Given the description of an element on the screen output the (x, y) to click on. 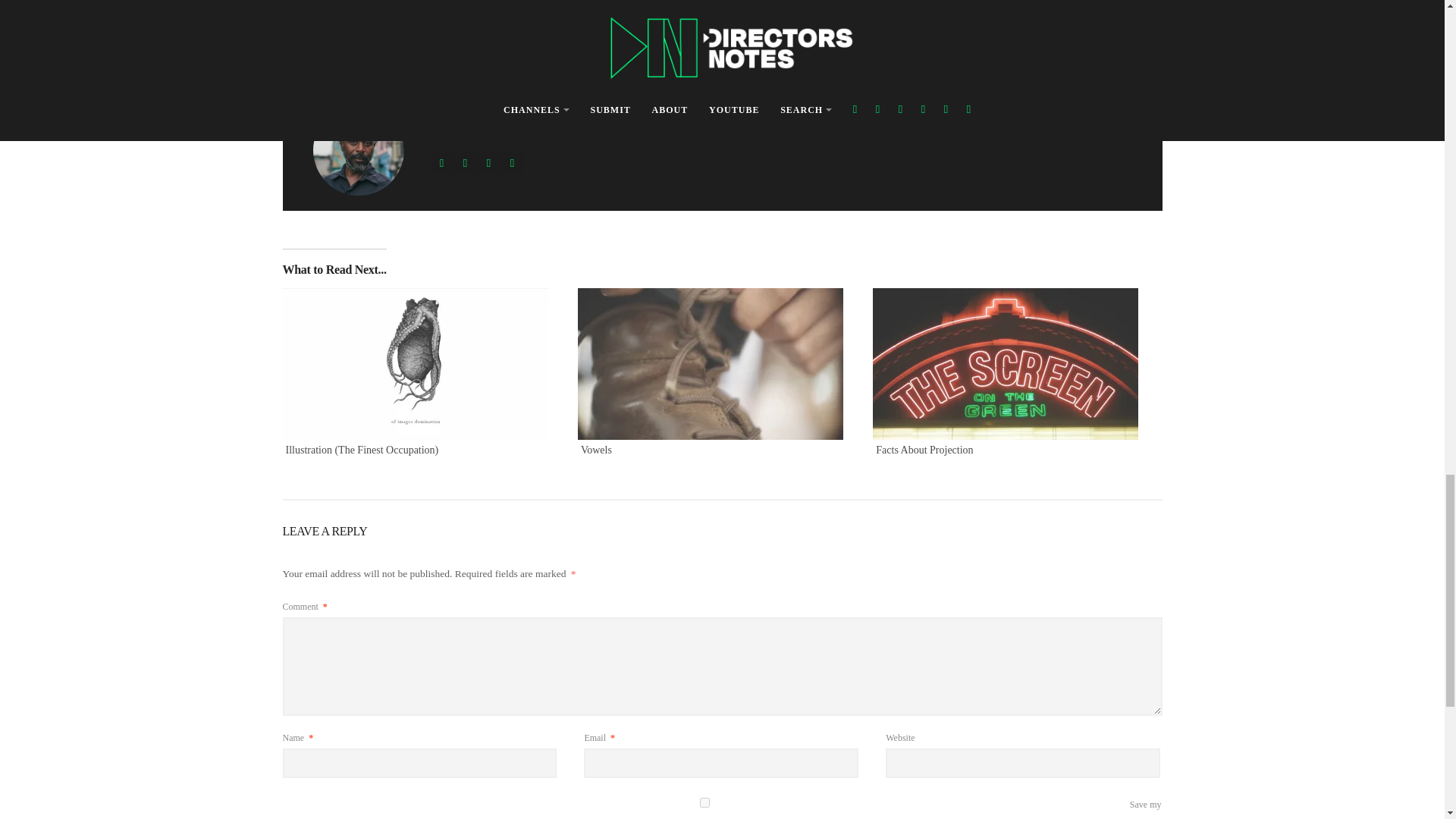
MarBelle (422, 80)
Posts by MarBelle (422, 80)
Vowels (595, 449)
Vowels (595, 449)
UK (388, 30)
TEMUJIN DORAN (344, 30)
Vowels (717, 363)
yes (704, 802)
